Given the description of an element on the screen output the (x, y) to click on. 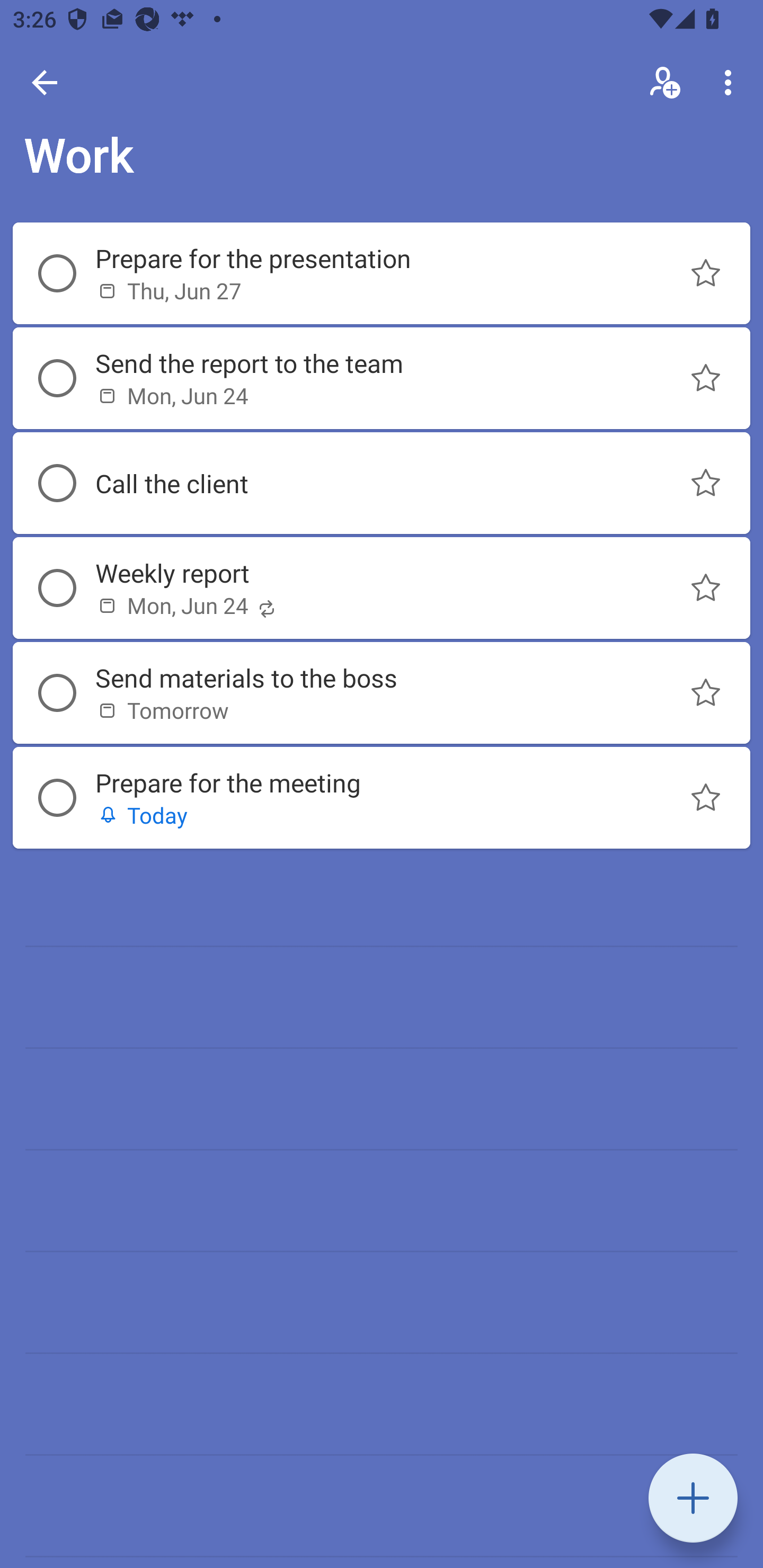
Back (44, 82)
